Given the description of an element on the screen output the (x, y) to click on. 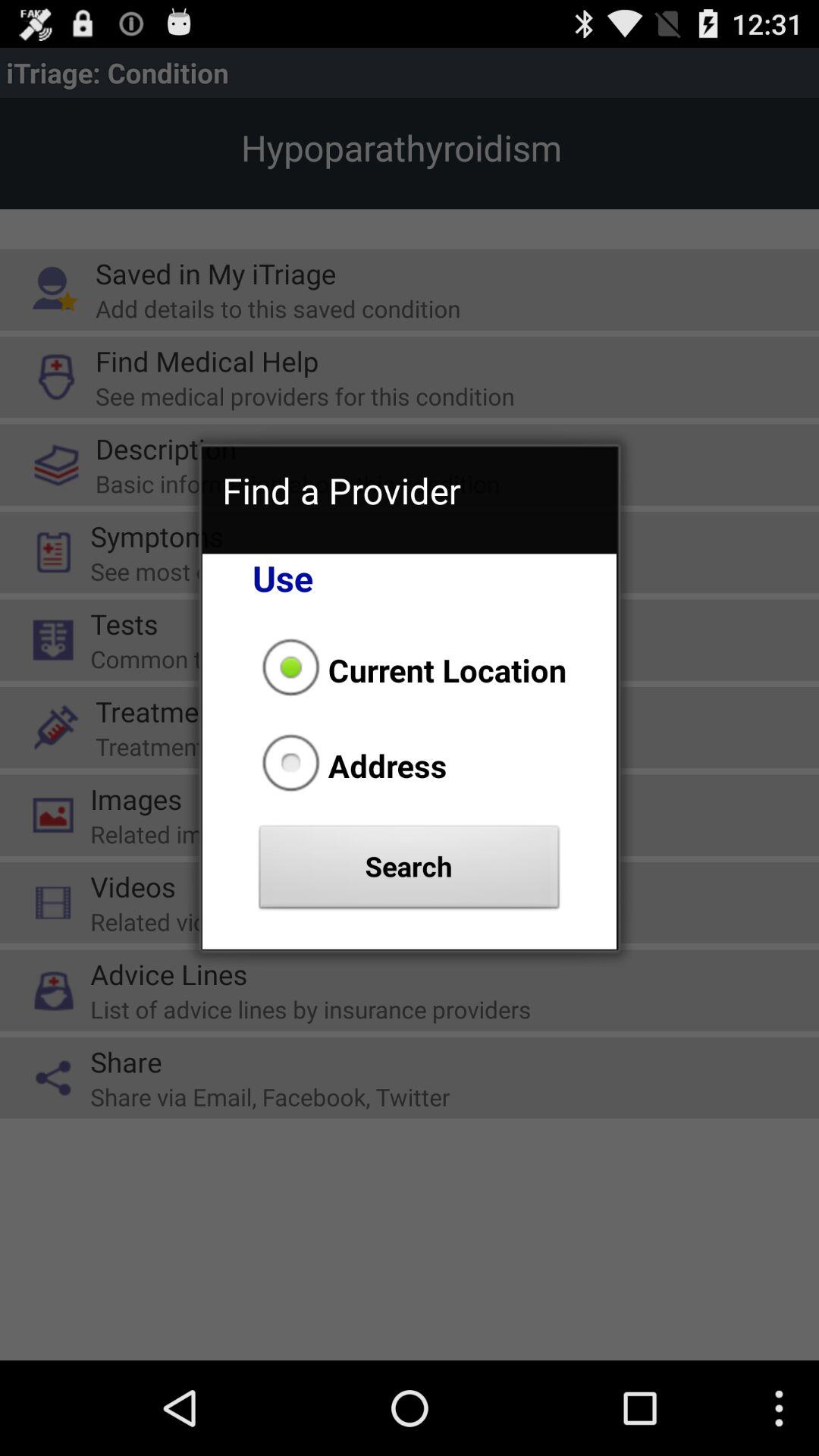
turn off item above address item (409, 669)
